Given the description of an element on the screen output the (x, y) to click on. 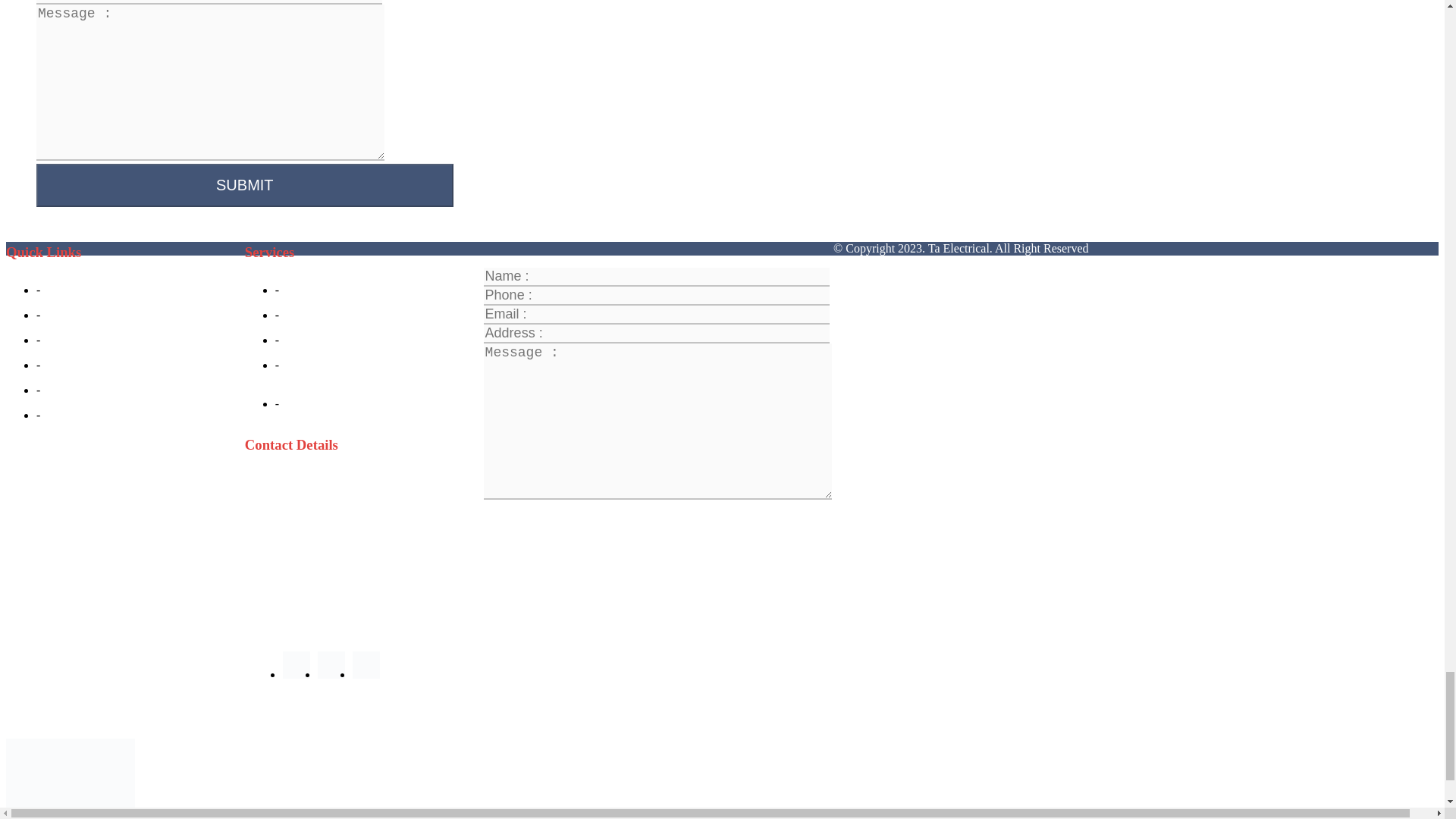
SUBMIT (244, 185)
